Given the description of an element on the screen output the (x, y) to click on. 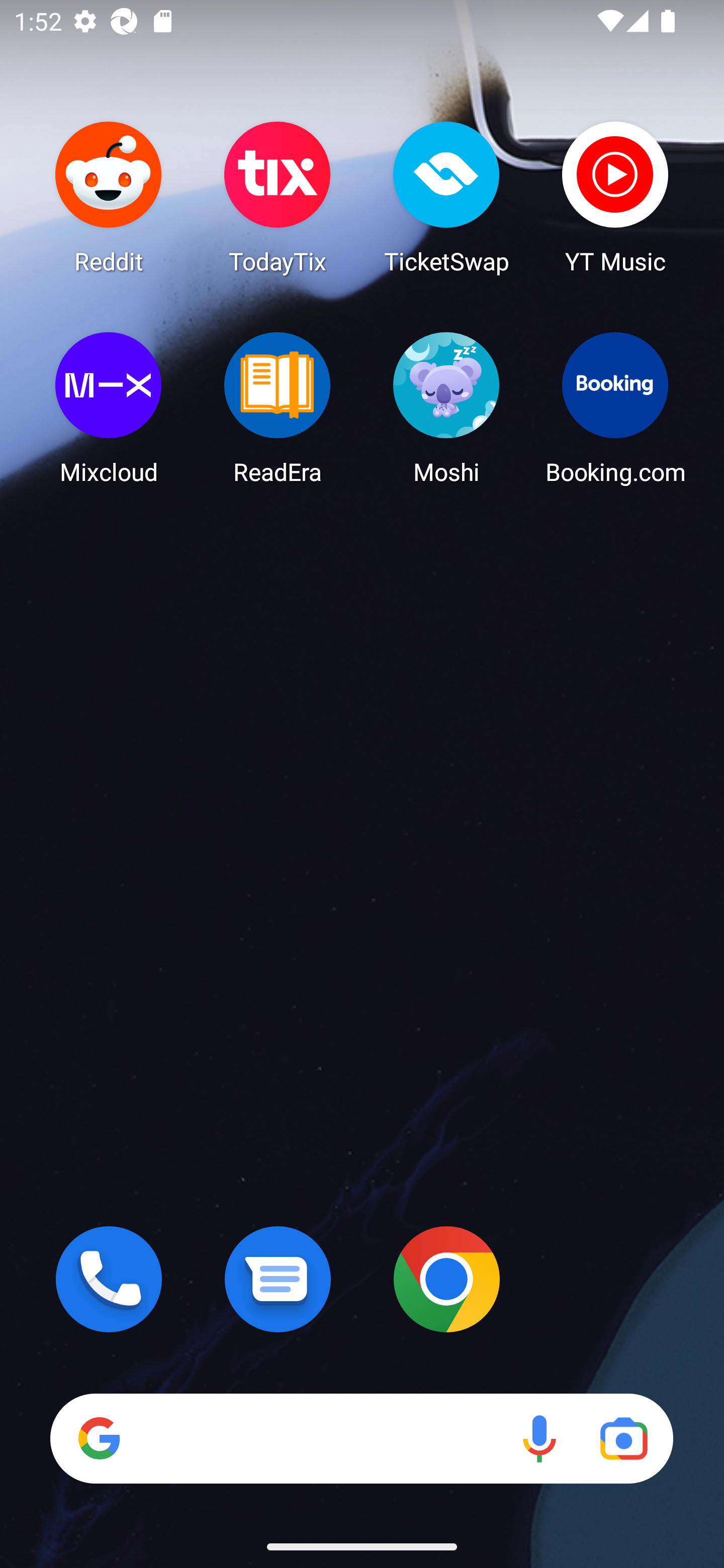
Reddit (108, 196)
TodayTix (277, 196)
TicketSwap (445, 196)
YT Music (615, 196)
Mixcloud (108, 407)
ReadEra (277, 407)
Moshi (445, 407)
Booking.com (615, 407)
Phone (108, 1279)
Messages (277, 1279)
Chrome (446, 1279)
Search Voice search Google Lens (361, 1438)
Voice search (539, 1438)
Google Lens (623, 1438)
